Given the description of an element on the screen output the (x, y) to click on. 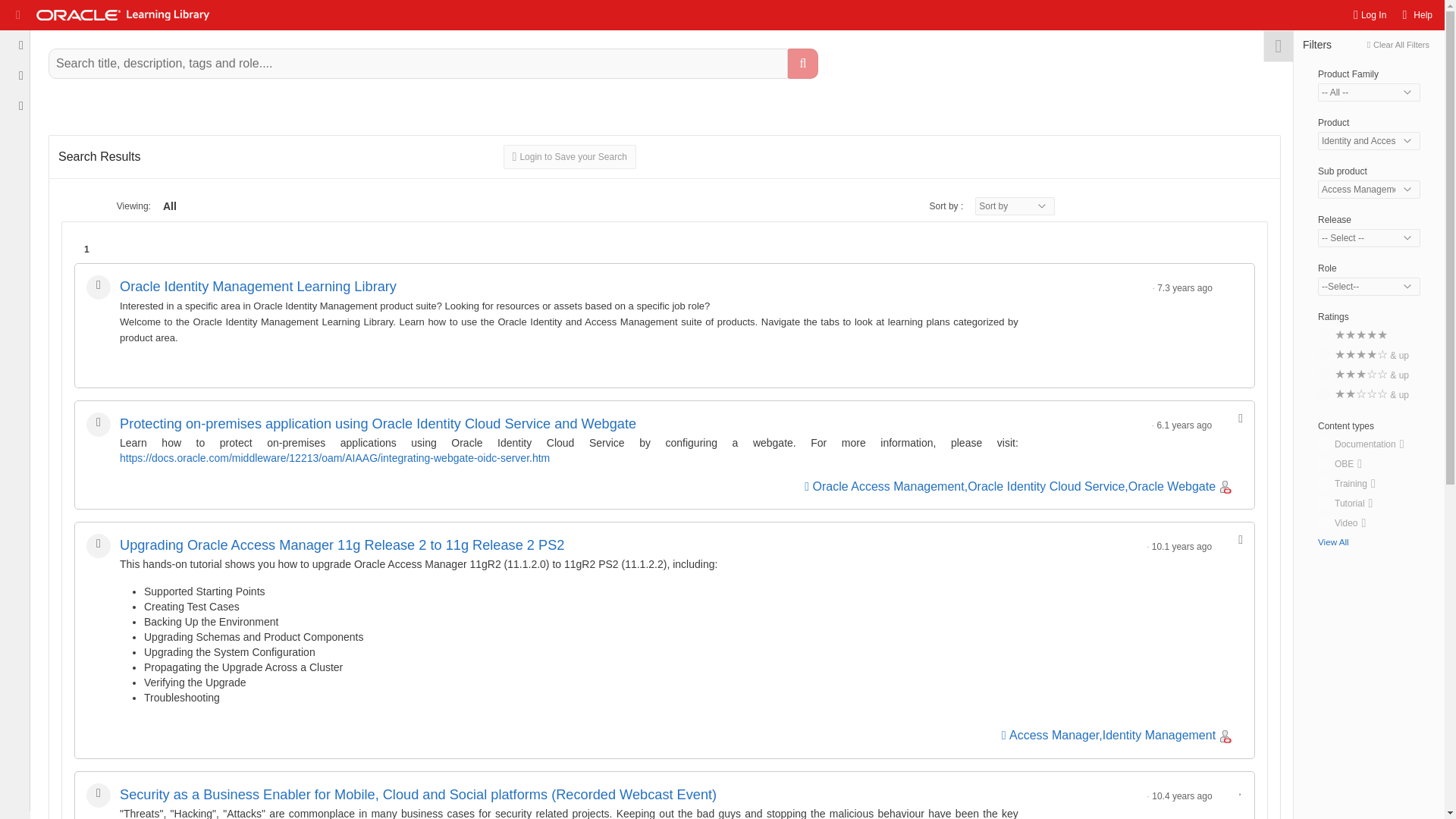
Oracle Identity Management Learning Library (257, 286)
Oracle Contributor (1224, 486)
Identity Management (1158, 735)
Search (802, 63)
Oracle Access Management (887, 486)
Oracle Contributor (1224, 736)
Log In (1369, 15)
Oracle Identity Cloud Service (1046, 486)
